Given the description of an element on the screen output the (x, y) to click on. 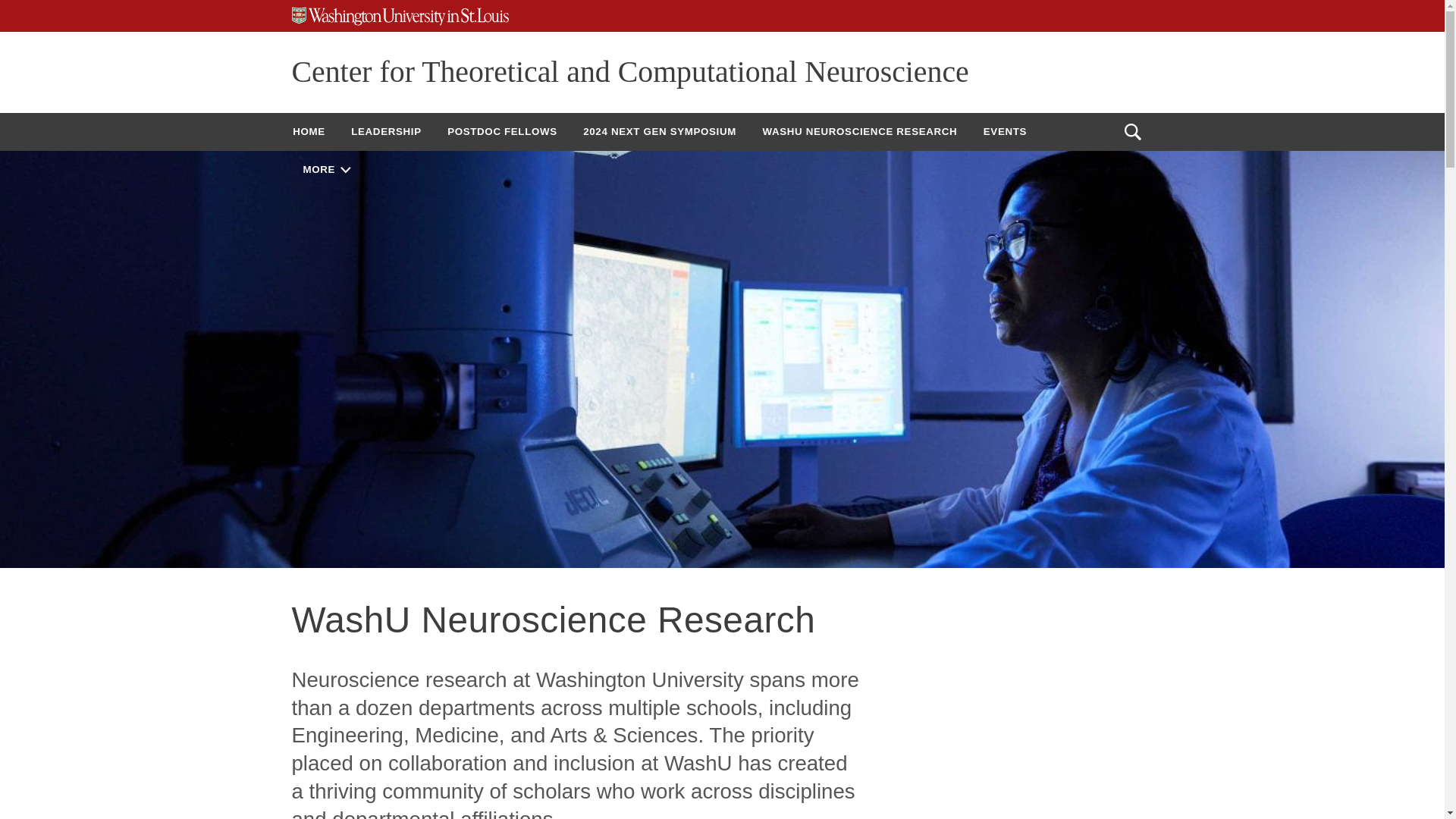
Center for Theoretical and Computational Neuroscience (629, 71)
Open Search (1132, 132)
WASHU NEUROSCIENCE RESEARCH (859, 131)
LEADERSHIP (385, 131)
2024 NEXT GEN SYMPOSIUM (660, 131)
MORE (326, 169)
POSTDOC FELLOWS (502, 131)
HOME (308, 131)
EVENTS (1005, 131)
